Given the description of an element on the screen output the (x, y) to click on. 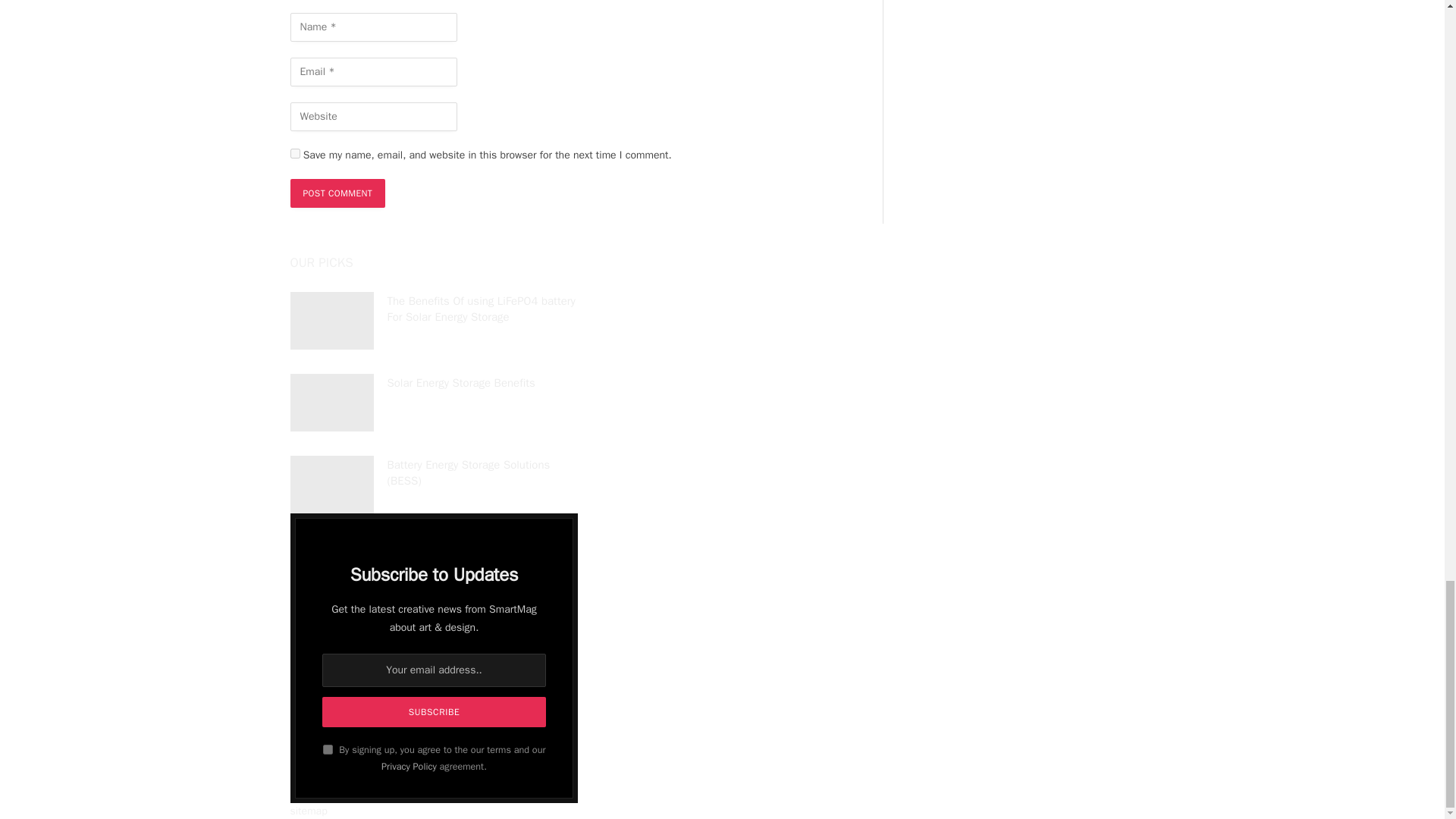
yes (294, 153)
Post Comment (337, 193)
Subscribe (432, 711)
on (328, 749)
